Given the description of an element on the screen output the (x, y) to click on. 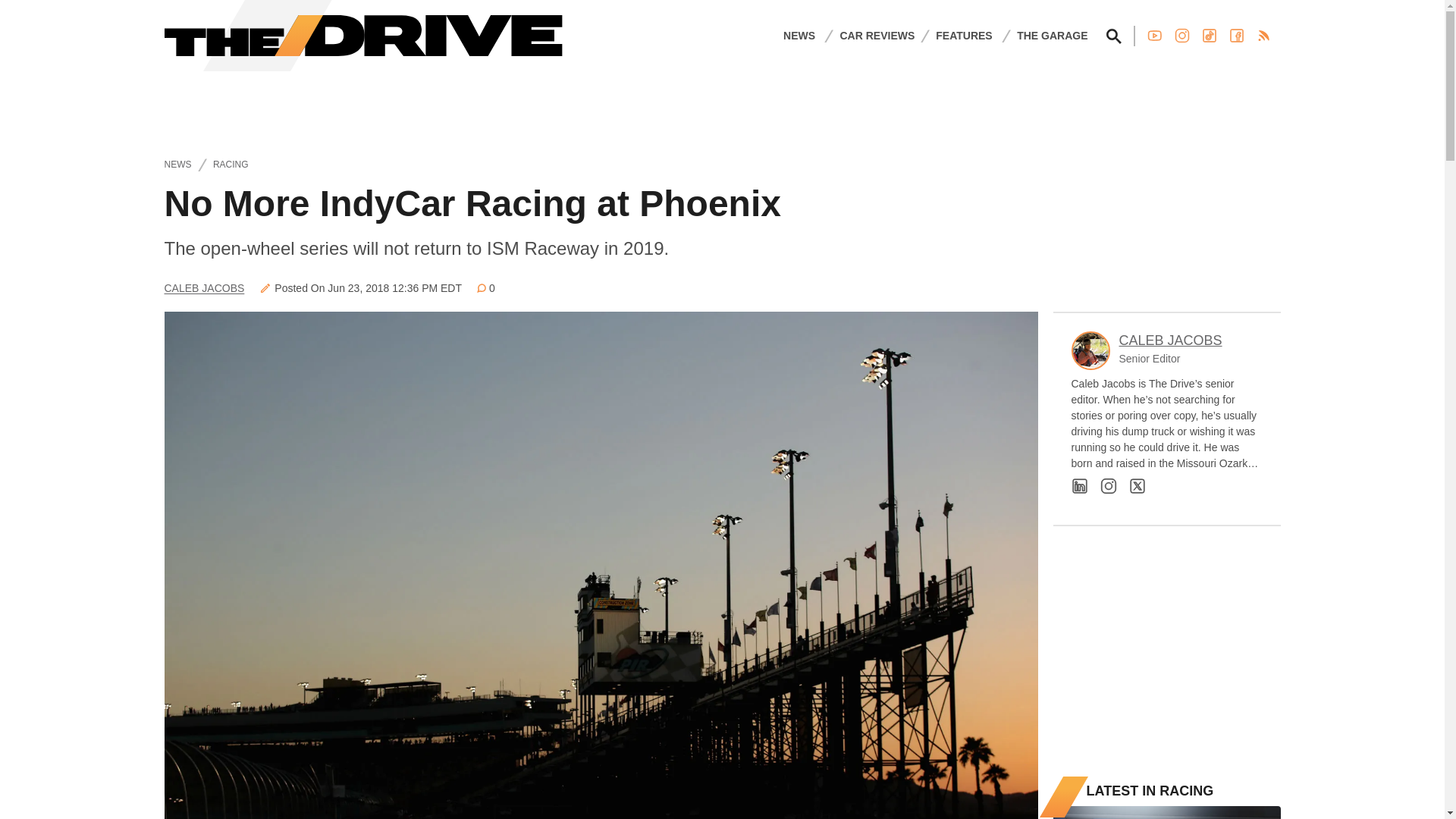
NEWS (799, 34)
